Given the description of an element on the screen output the (x, y) to click on. 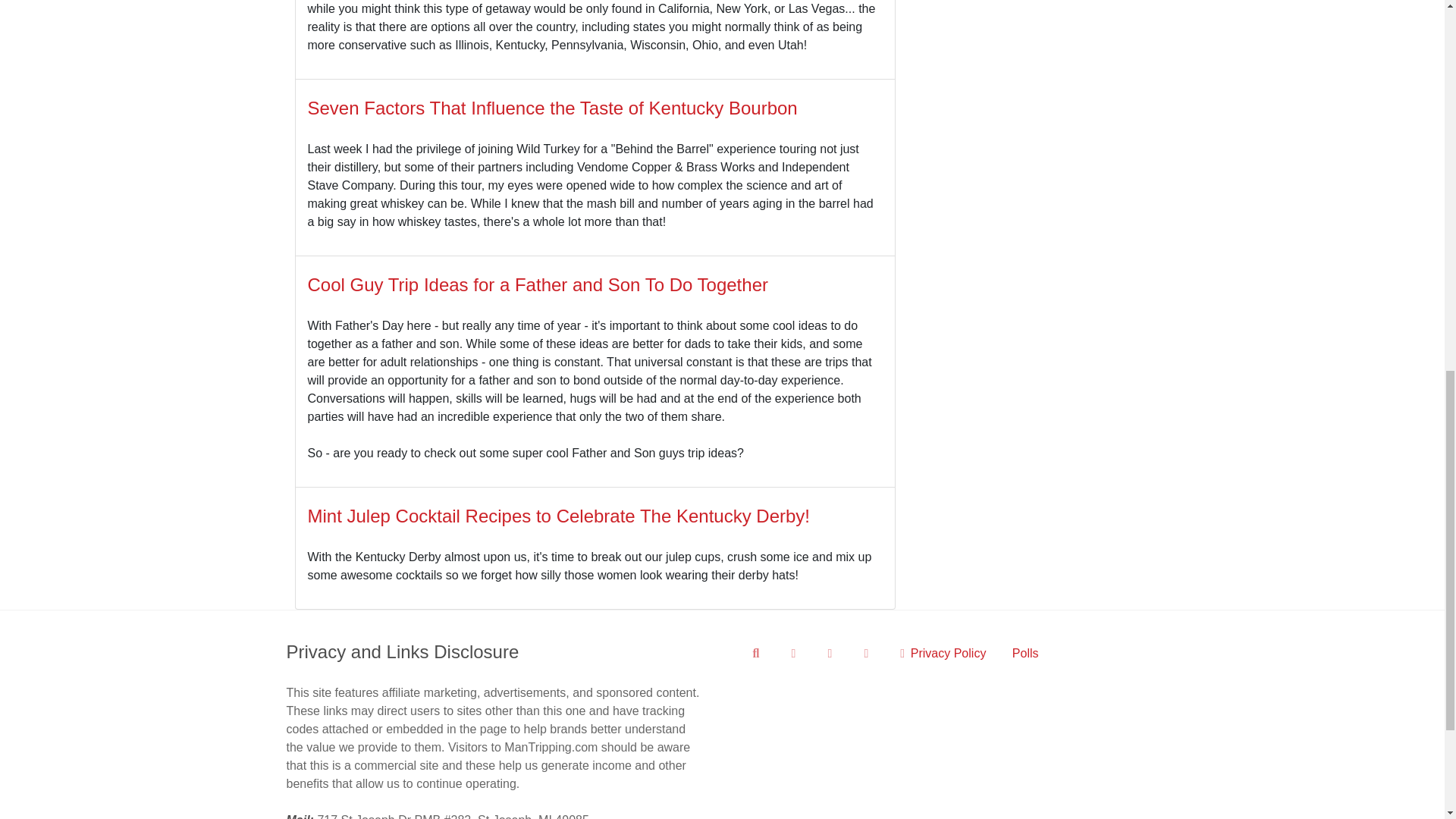
Seven Factors That Influence the Taste of Kentucky Bourbon (552, 107)
Cool Guy Trip Ideas for a Father and Son To Do Together (537, 284)
Search (759, 652)
Polls (1025, 652)
Mint Julep Cocktail Recipes to Celebrate The Kentucky Derby! (558, 516)
Privacy Policy (942, 652)
Sitemap (795, 652)
Login (868, 652)
Giveaways and Sweeps (831, 652)
